Given the description of an element on the screen output the (x, y) to click on. 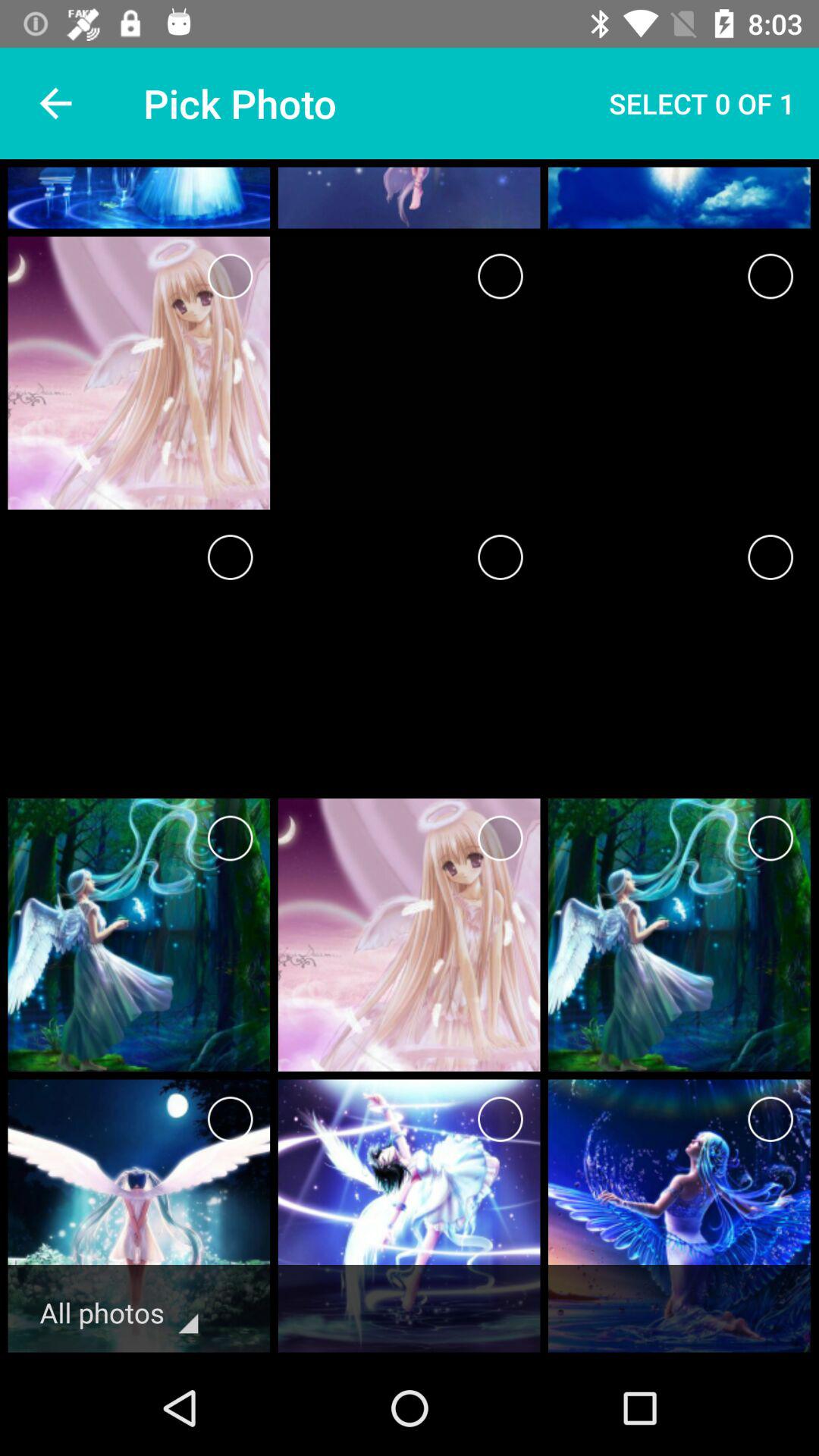
select option (230, 276)
